Given the description of an element on the screen output the (x, y) to click on. 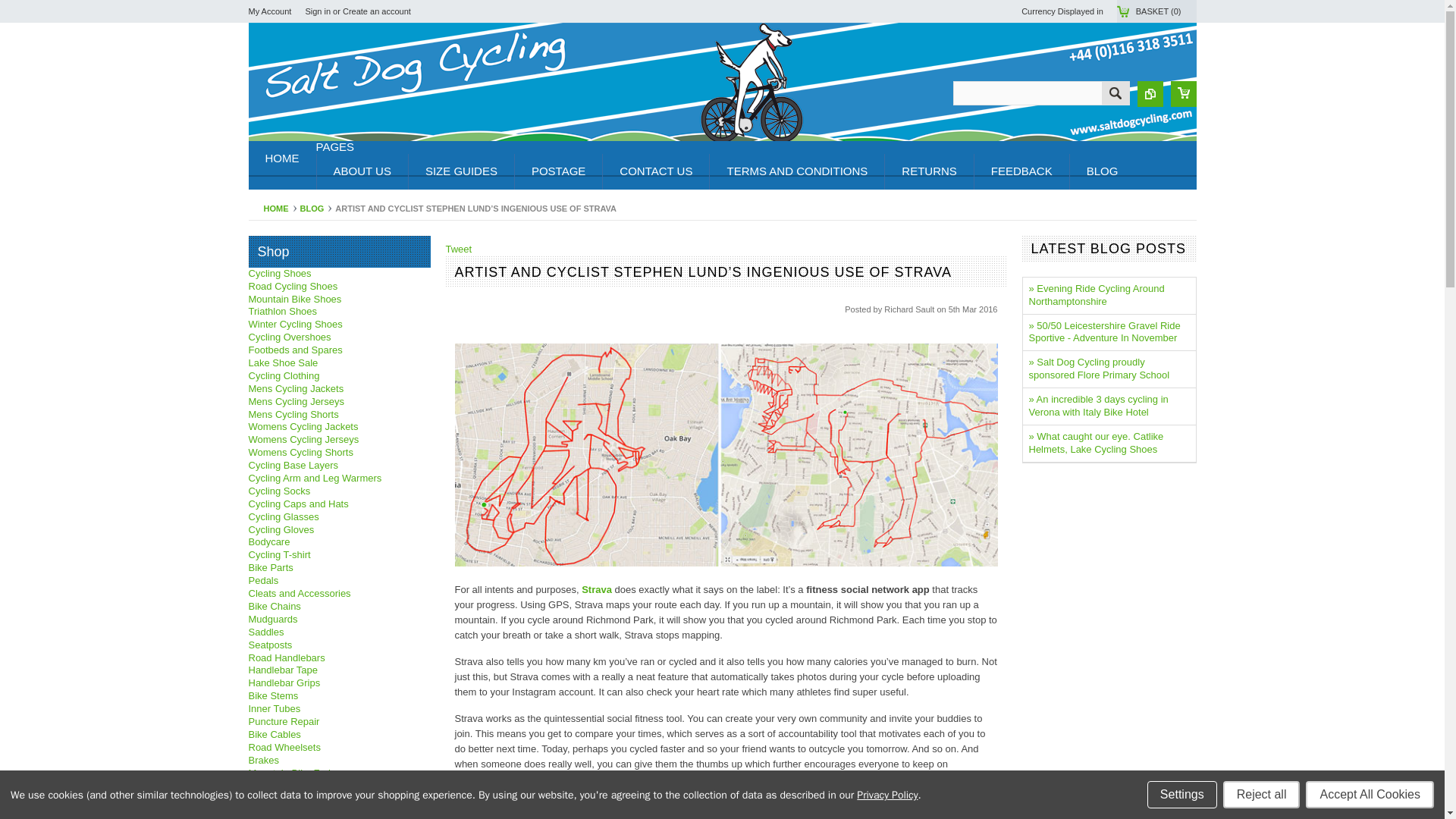
view cart (1182, 92)
Compare Product (1150, 94)
Cycling Shoes (279, 273)
HOME (281, 158)
SIZE GUIDES (460, 171)
Cycling Clothing (284, 375)
FEEDBACK (1021, 171)
Create an account (376, 11)
Road Cycling Shoes (292, 285)
Footbeds and Spares (295, 349)
Lake Shoe Sale (283, 362)
View Cart (1183, 94)
SEARCH (1114, 94)
Triathlon Shoes (282, 310)
Mountain Bike Shoes (295, 298)
